Given the description of an element on the screen output the (x, y) to click on. 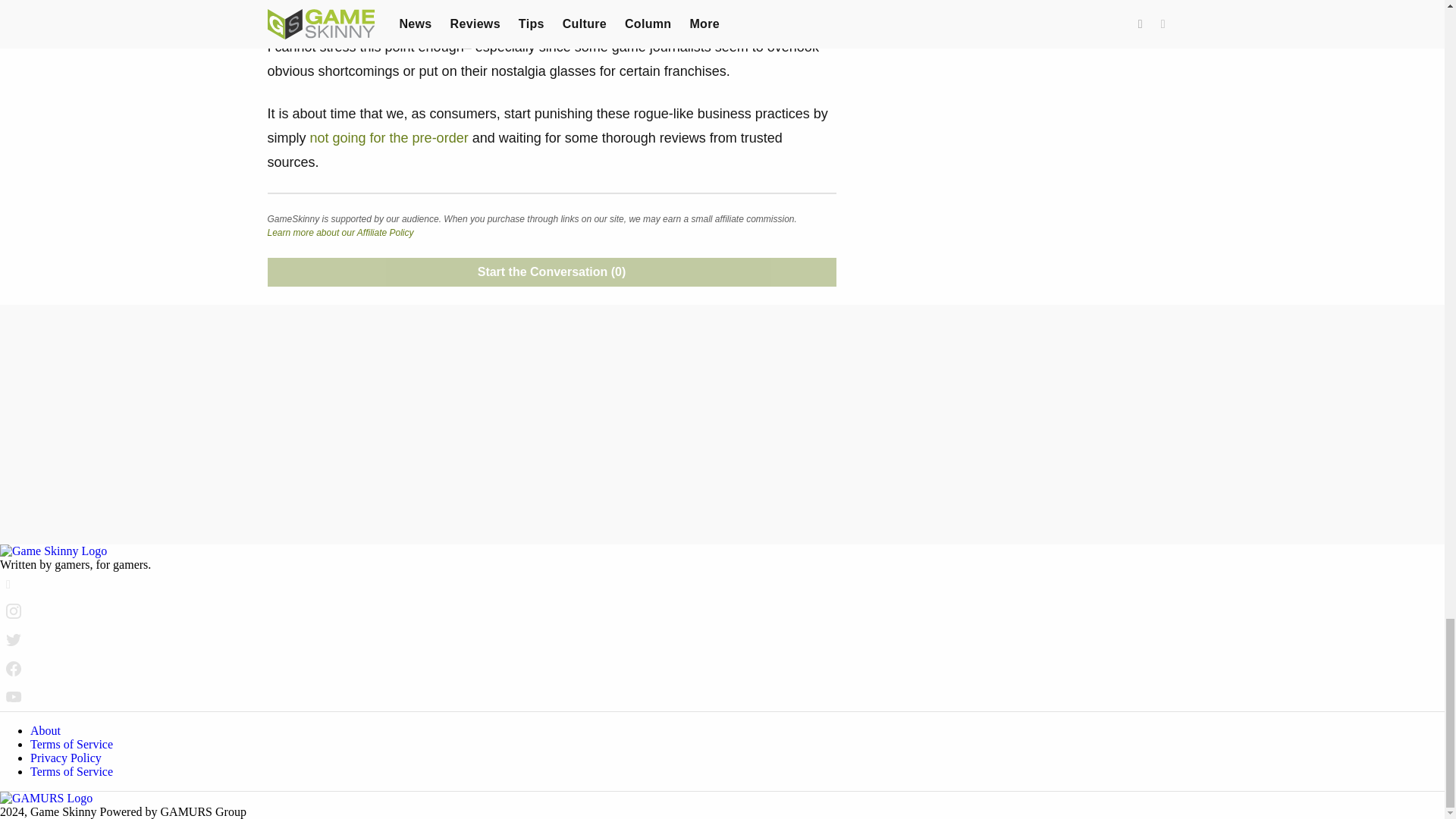
Digital Preorders are a Ridiculous Scam (389, 137)
